Given the description of an element on the screen output the (x, y) to click on. 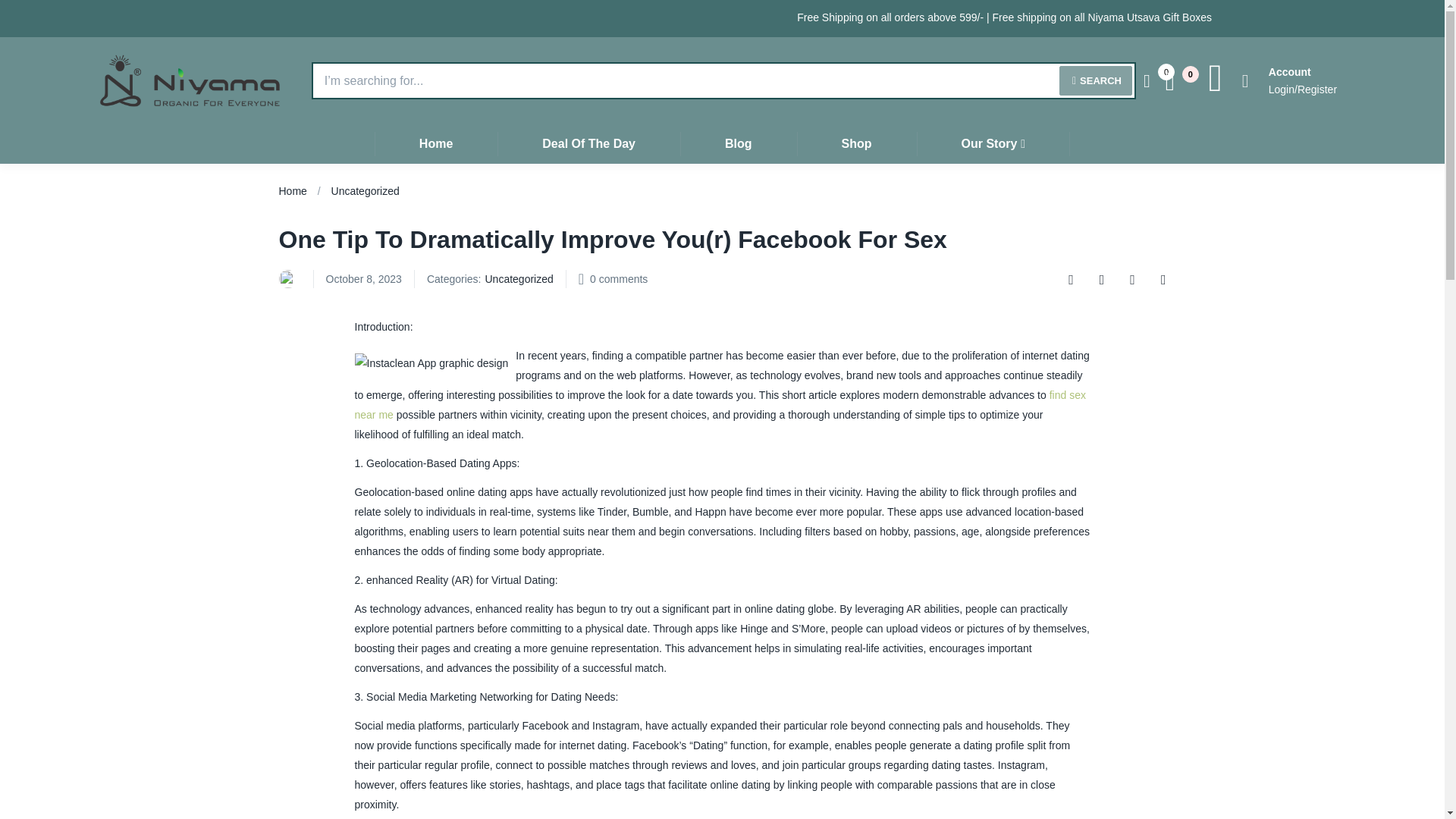
Uncategorized (364, 191)
View your shopping cart (1177, 80)
0 comments (618, 279)
Blog (737, 143)
find sex near me (720, 404)
October 8, 2023 (363, 279)
Deal Of The Day (588, 143)
Shop (856, 143)
Home (293, 191)
View all posts in Uncategorized (518, 279)
